Given the description of an element on the screen output the (x, y) to click on. 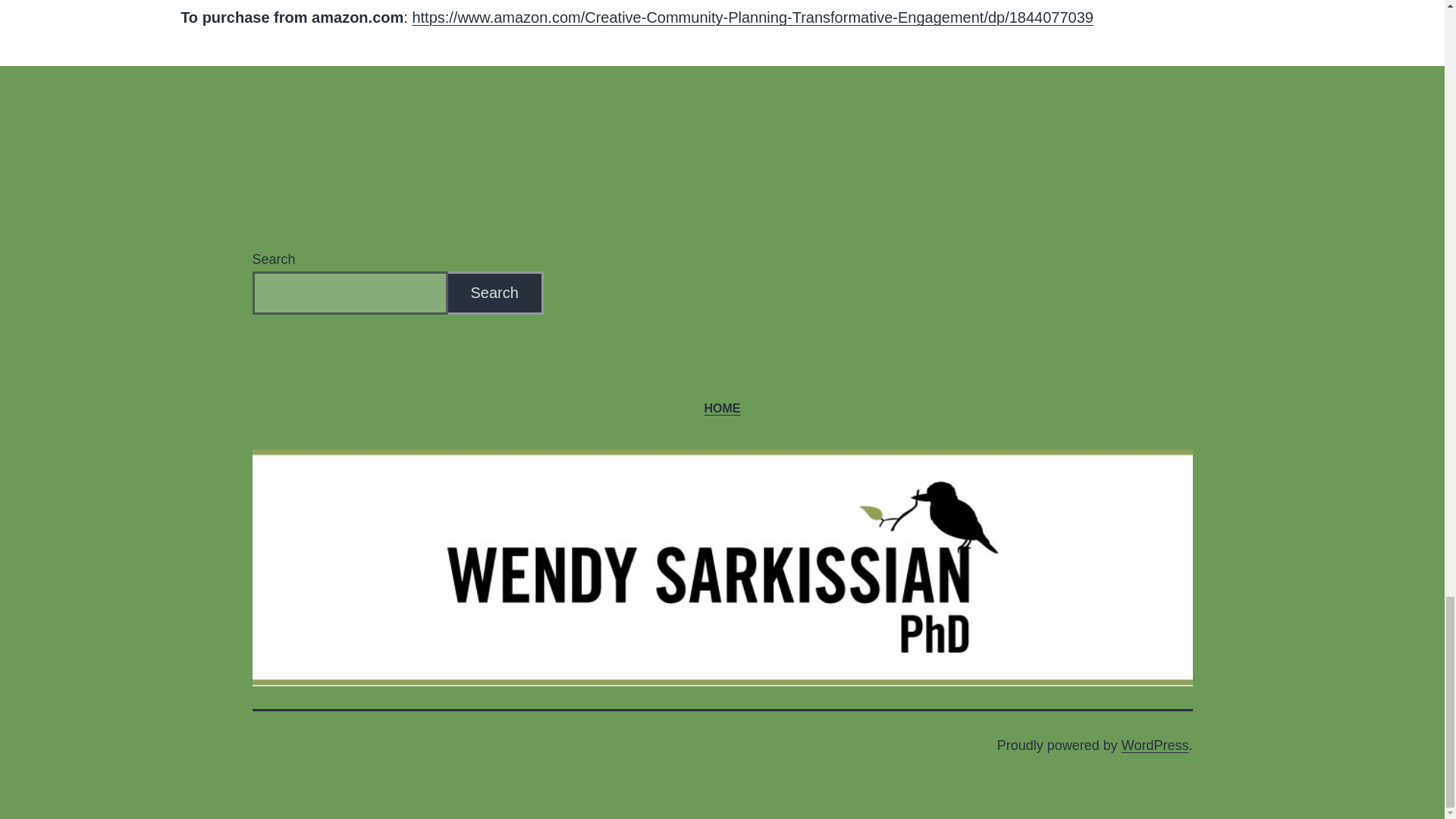
HOME (721, 407)
WordPress (1155, 744)
Search (494, 292)
